Given the description of an element on the screen output the (x, y) to click on. 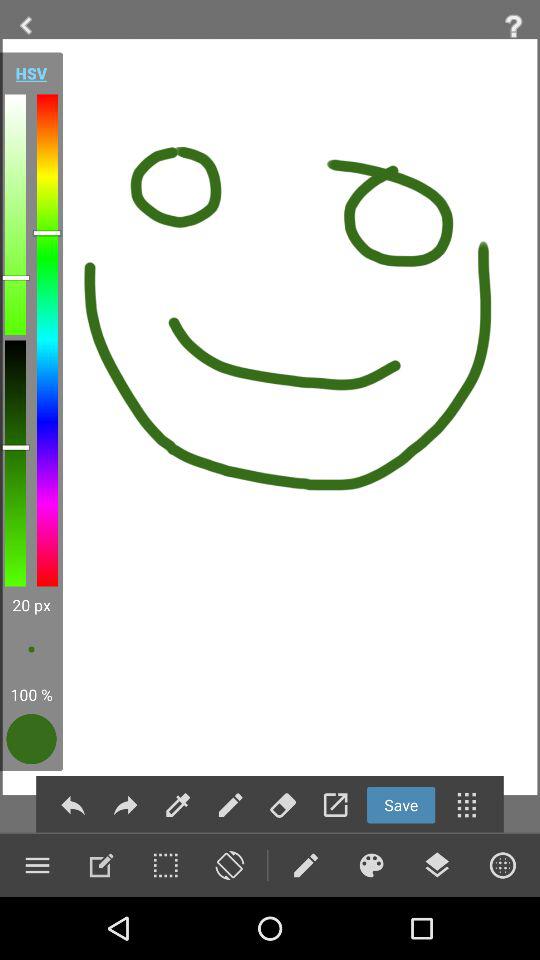
undo (72, 804)
